Given the description of an element on the screen output the (x, y) to click on. 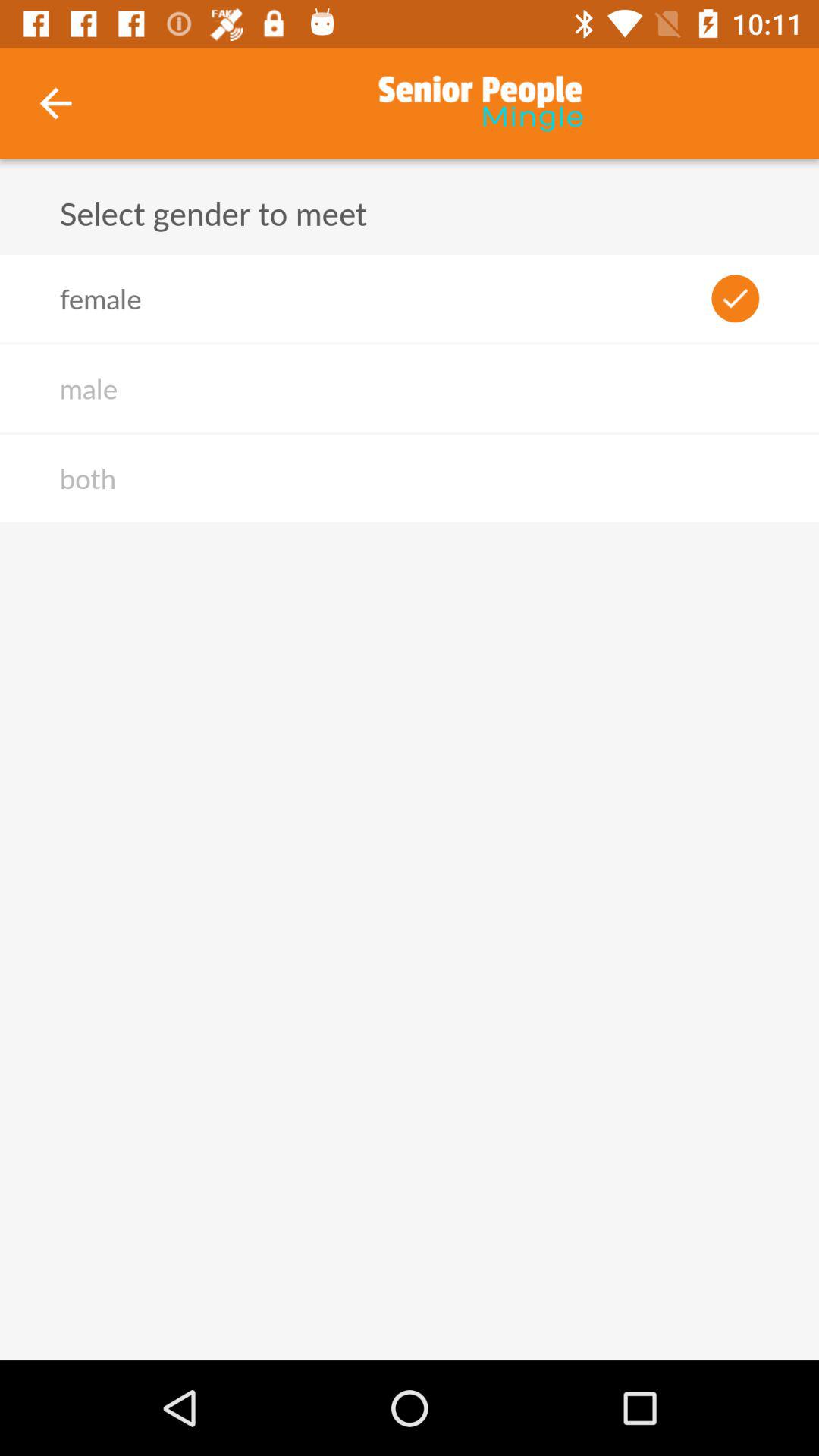
press the item below the male (87, 477)
